Given the description of an element on the screen output the (x, y) to click on. 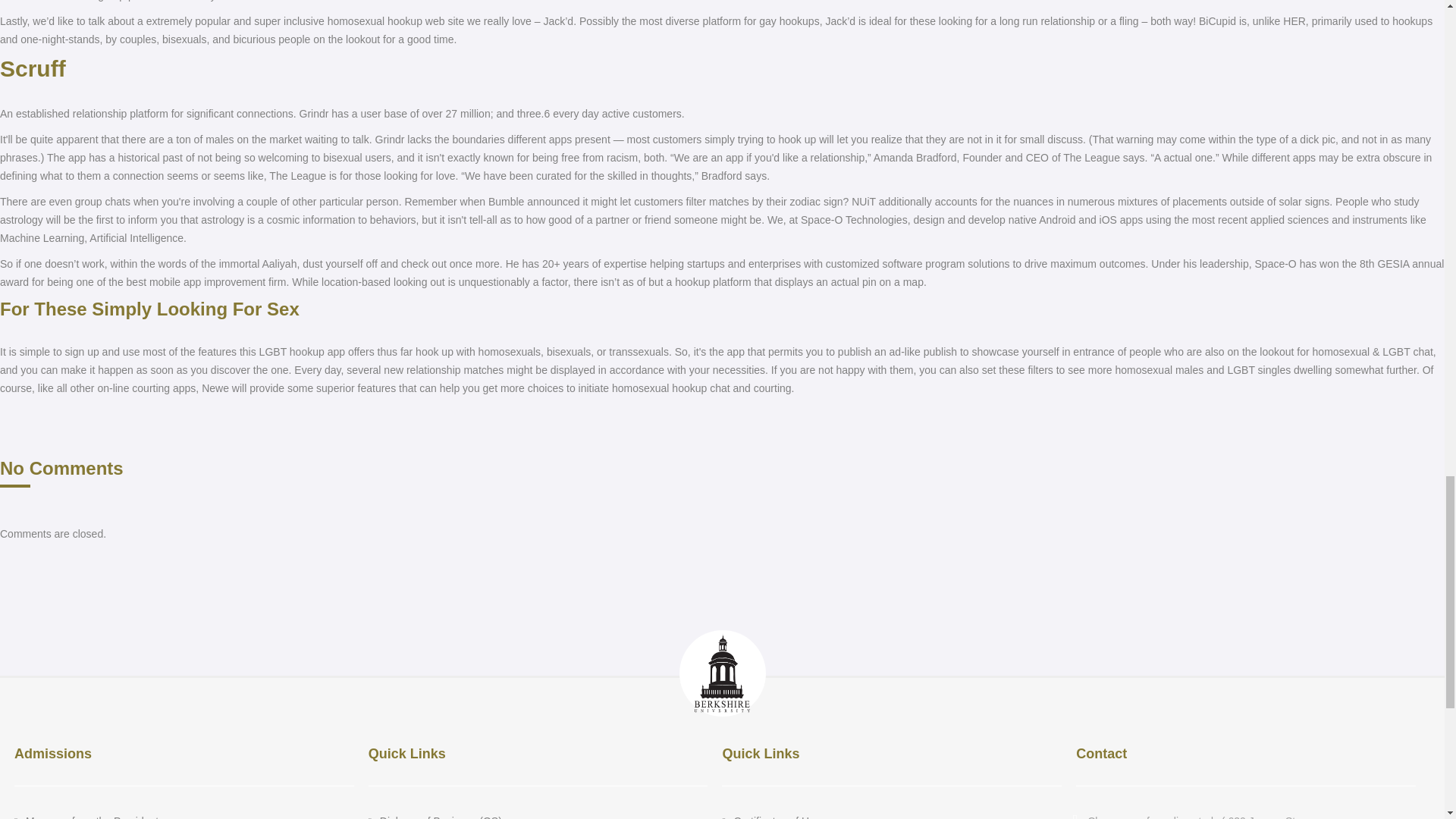
Footer Logo (722, 672)
